Given the description of an element on the screen output the (x, y) to click on. 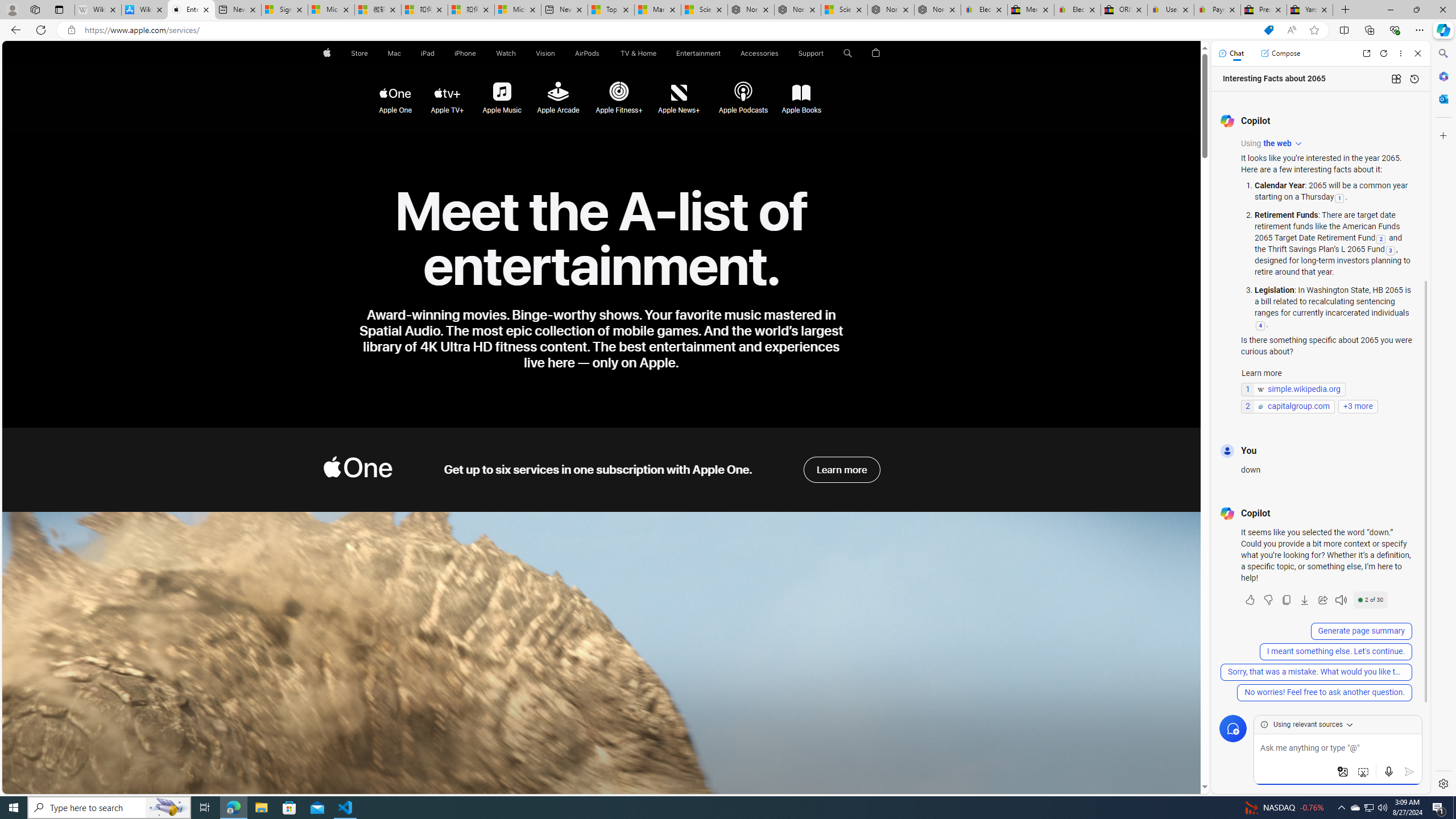
Apple Fitness+ (618, 93)
Accessories (759, 53)
Apple (325, 53)
Shopping Bag (876, 53)
Apple Podcasts (742, 93)
AutomationID: globalnav-bag (876, 53)
iPad (427, 53)
